Given the description of an element on the screen output the (x, y) to click on. 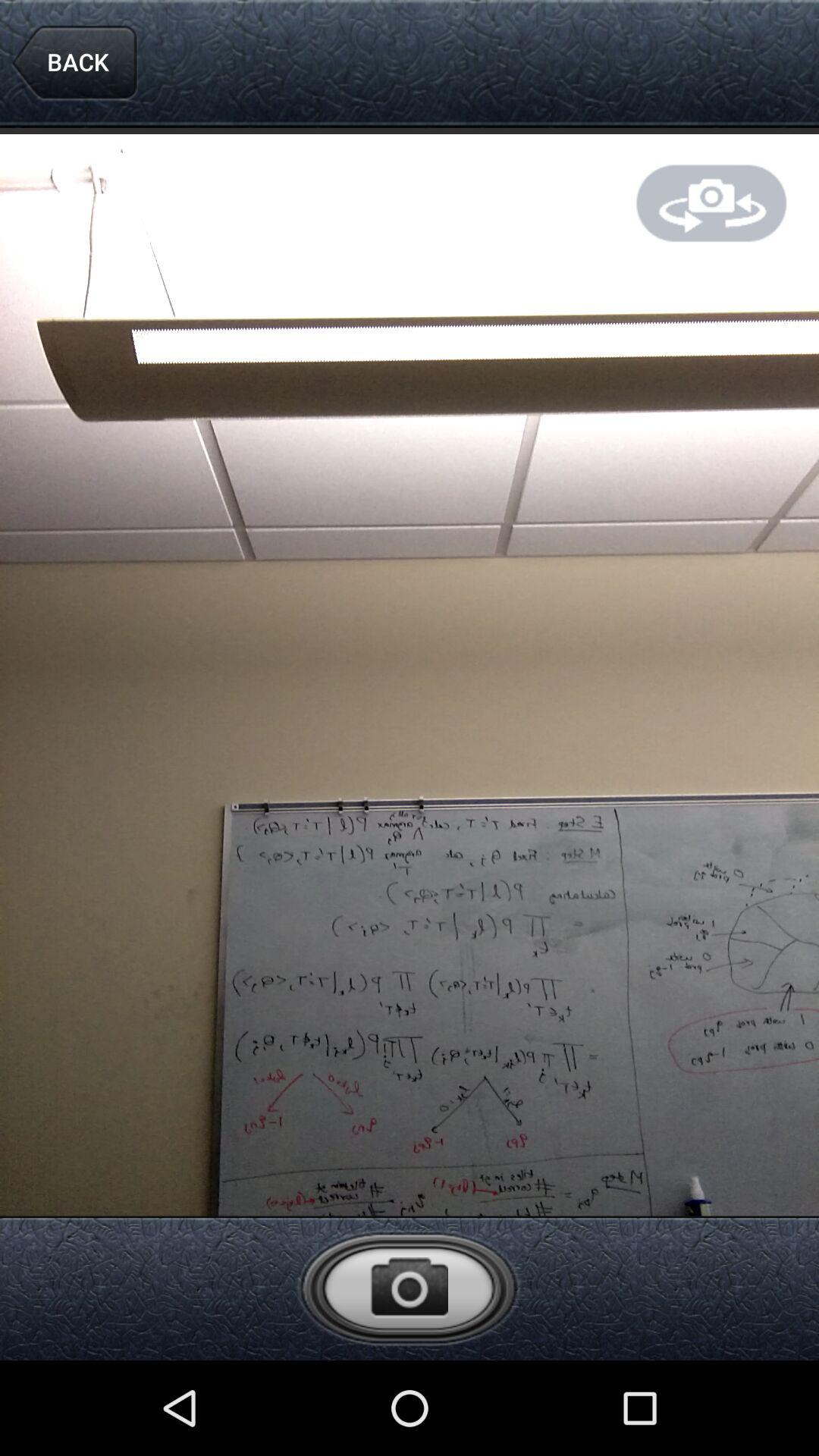
rotate the picture clockwise (711, 202)
